Given the description of an element on the screen output the (x, y) to click on. 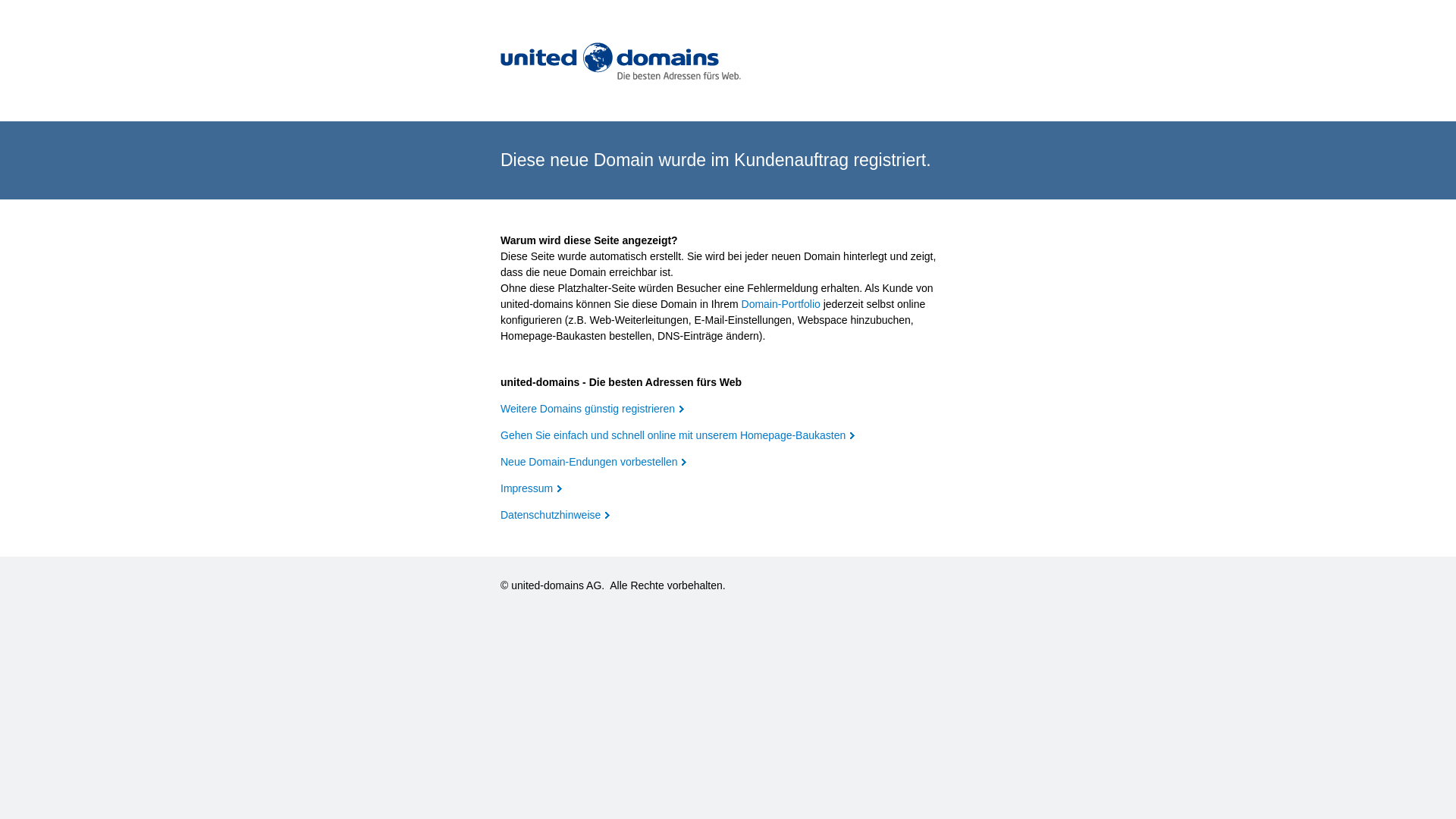
Neue Domain-Endungen vorbestellen Element type: text (593, 461)
Domain-Portfolio Element type: text (780, 304)
Datenschutzhinweise Element type: text (554, 514)
Impressum Element type: text (530, 488)
